Given the description of an element on the screen output the (x, y) to click on. 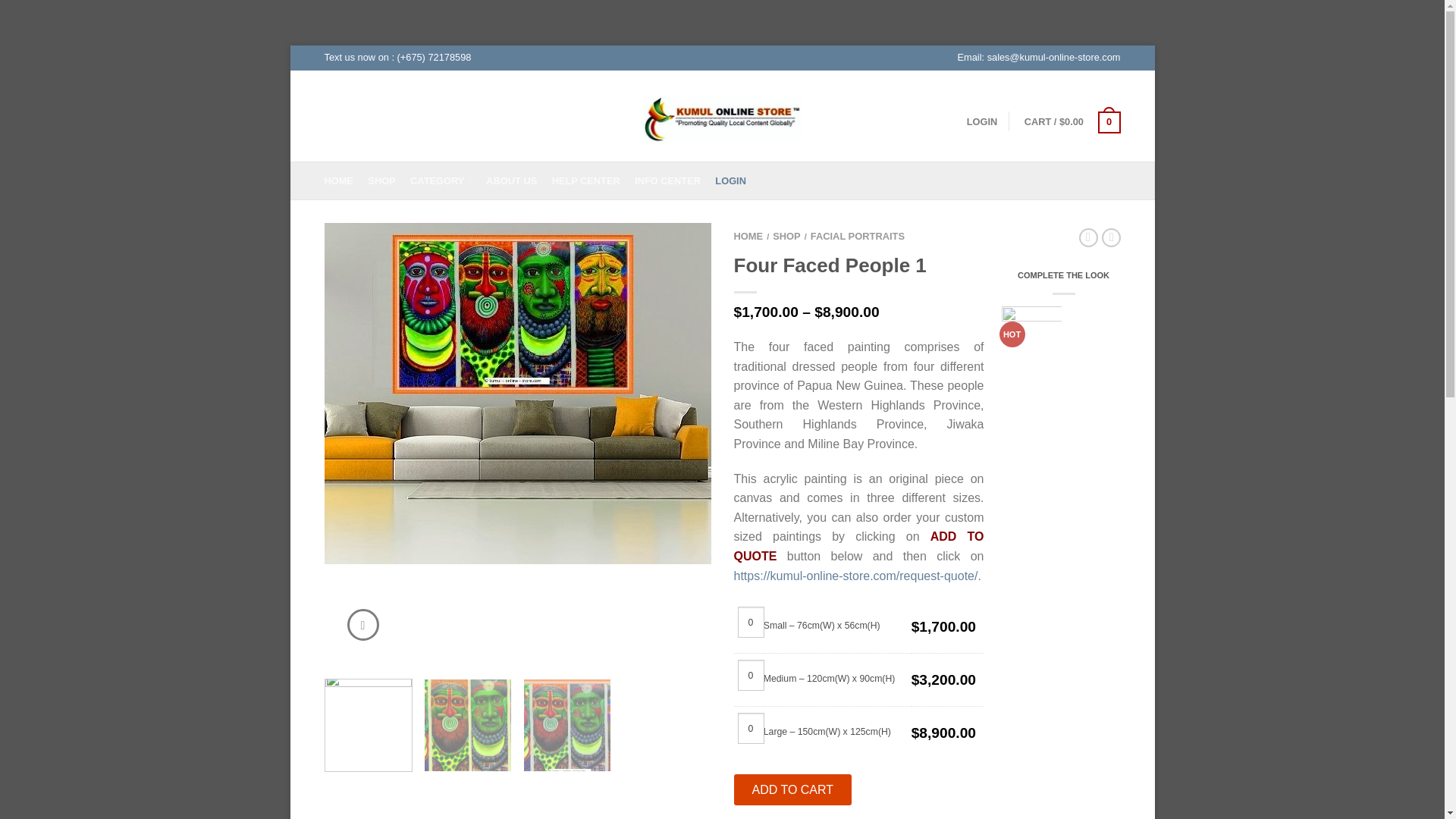
HOME (344, 180)
LOGIN (981, 121)
FACIAL PORTRAITS (857, 235)
ABOUT US (517, 180)
Login (729, 180)
SHOP (786, 235)
SHOP (387, 180)
Kumul Online Store - PNG's No.1 Online Store (722, 115)
LOGIN (729, 180)
HELP CENTER (591, 180)
